Given the description of an element on the screen output the (x, y) to click on. 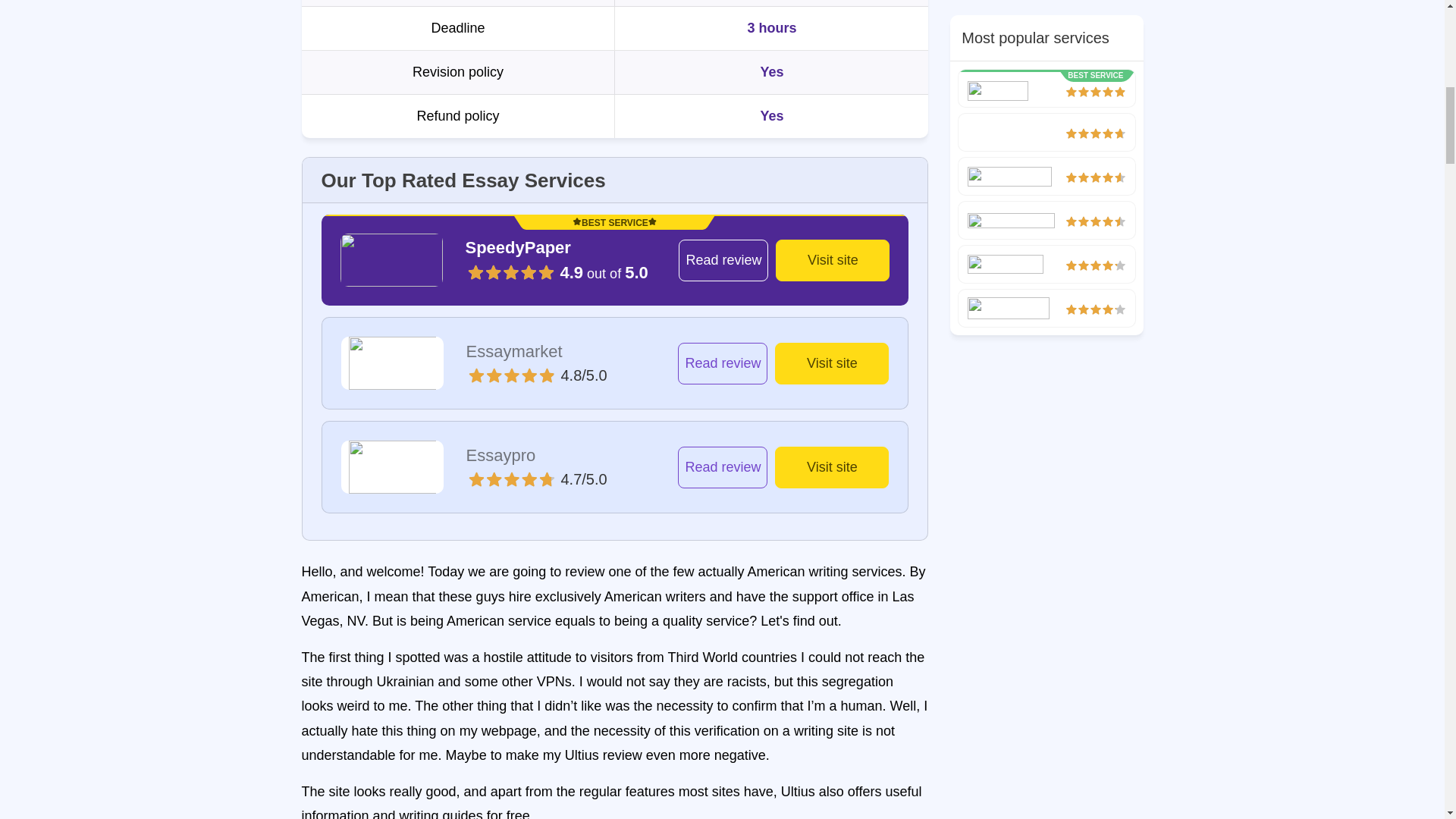
Read review (722, 363)
Visit site (831, 467)
Visit site (831, 363)
Read review (722, 467)
Read review (723, 260)
Visit site (832, 260)
